Given the description of an element on the screen output the (x, y) to click on. 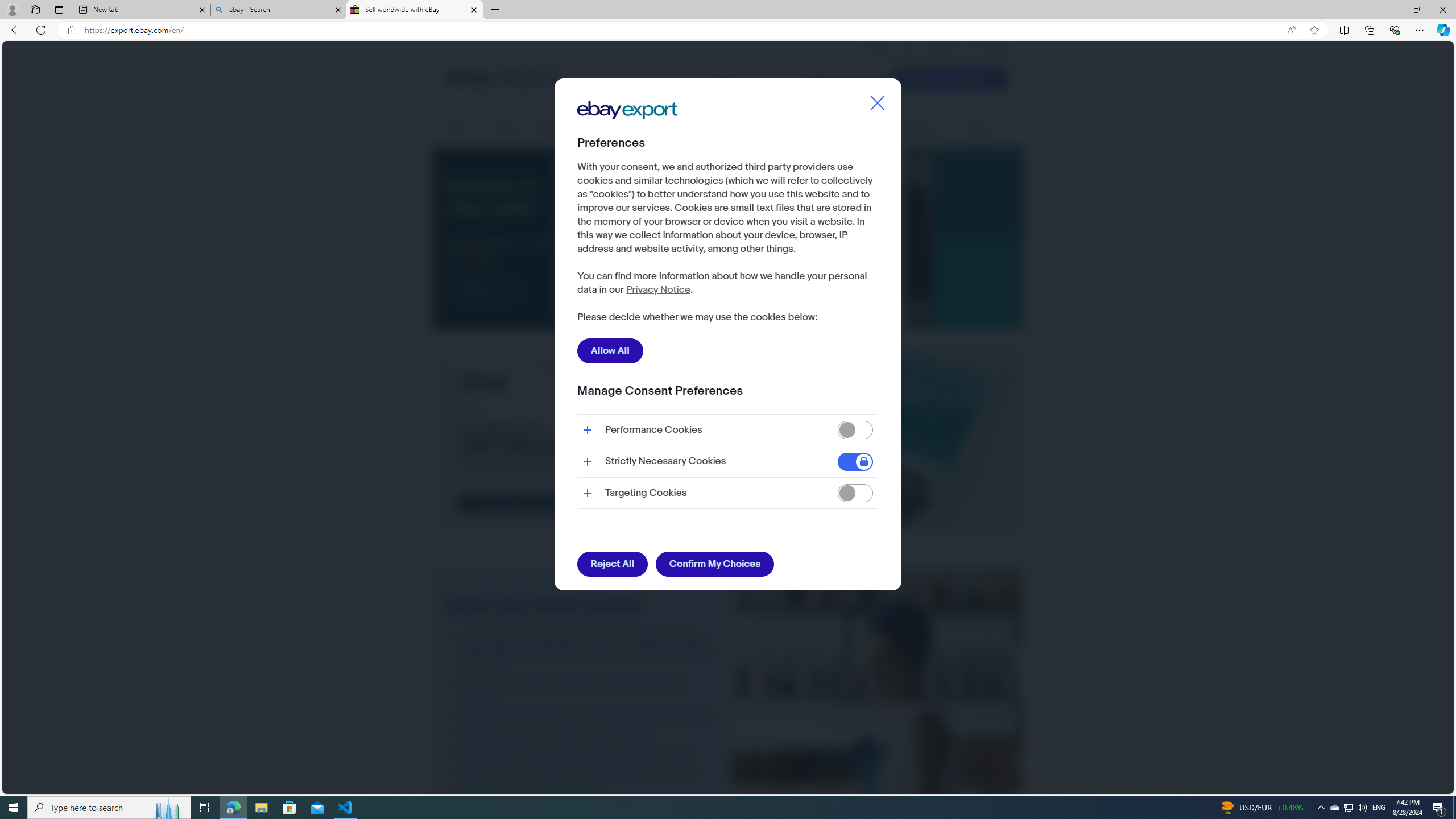
Become an eBay seller (761, 239)
here (631, 284)
SEA (993, 53)
Customise my choices (645, 317)
